Given the description of an element on the screen output the (x, y) to click on. 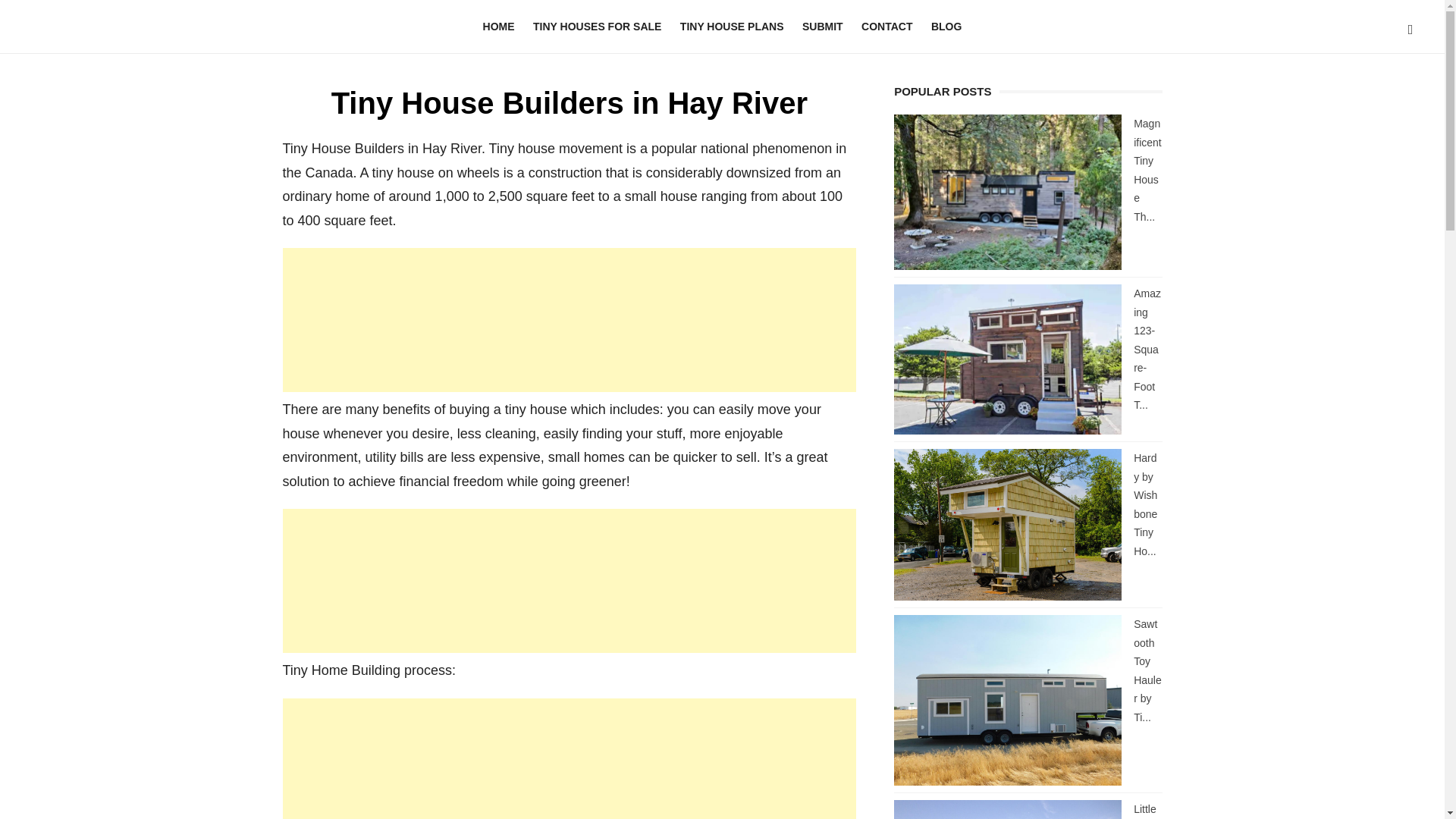
Advertisement (569, 320)
Little Bird by Zyl Vardos (1147, 811)
Advertisement (569, 758)
Advertisement (569, 580)
CONTACT (886, 26)
SUBMIT (822, 26)
Tiny Houses Near Me (145, 22)
TINY HOUSES FOR SALE (596, 26)
TINY HOUSE PLANS (732, 26)
BLOG (946, 26)
